Given the description of an element on the screen output the (x, y) to click on. 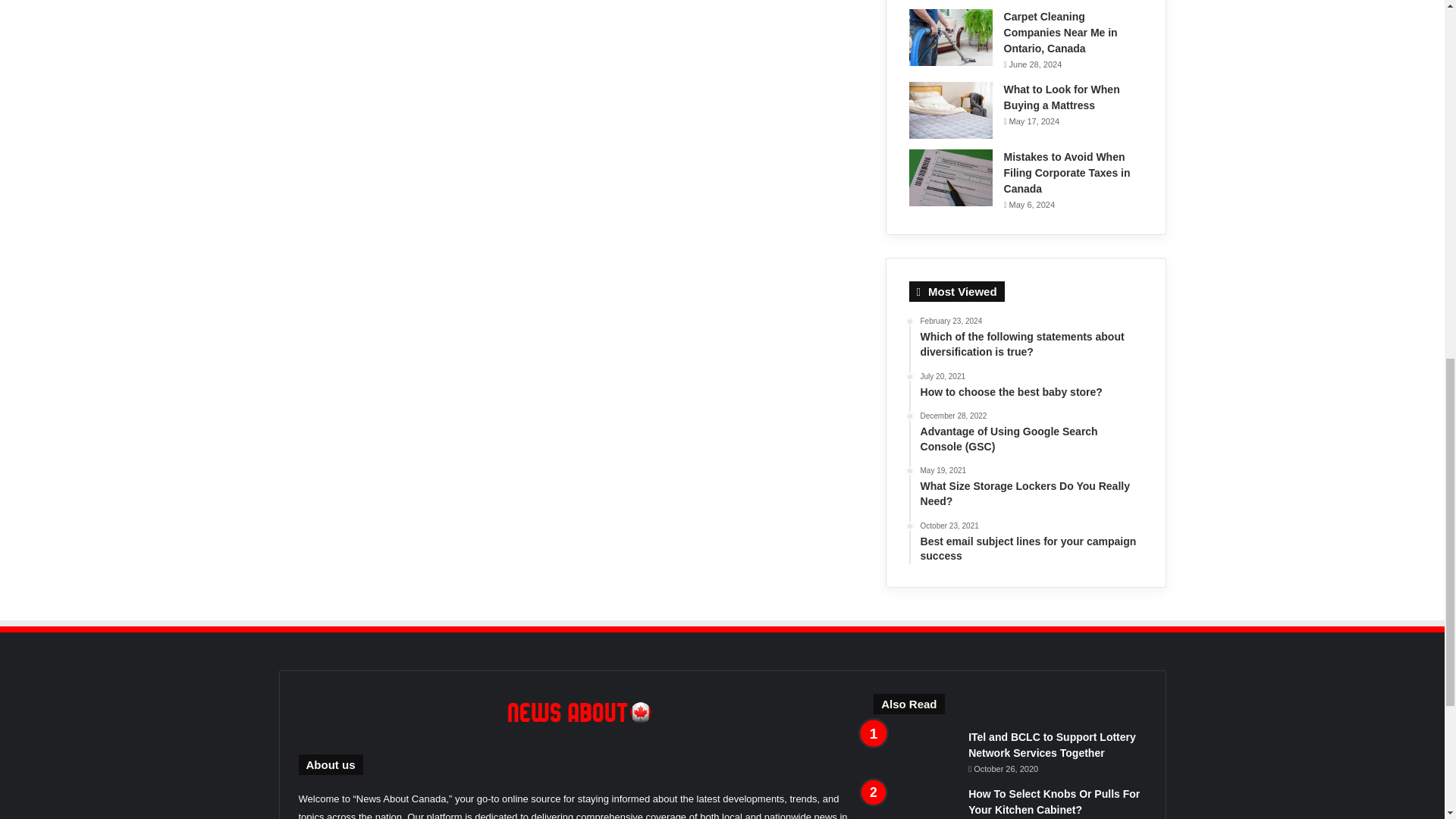
What to Look for When Buying a Mattress (1061, 97)
Carpet Cleaning Companies Near Me in Ontario, Canada (1061, 32)
